Given the description of an element on the screen output the (x, y) to click on. 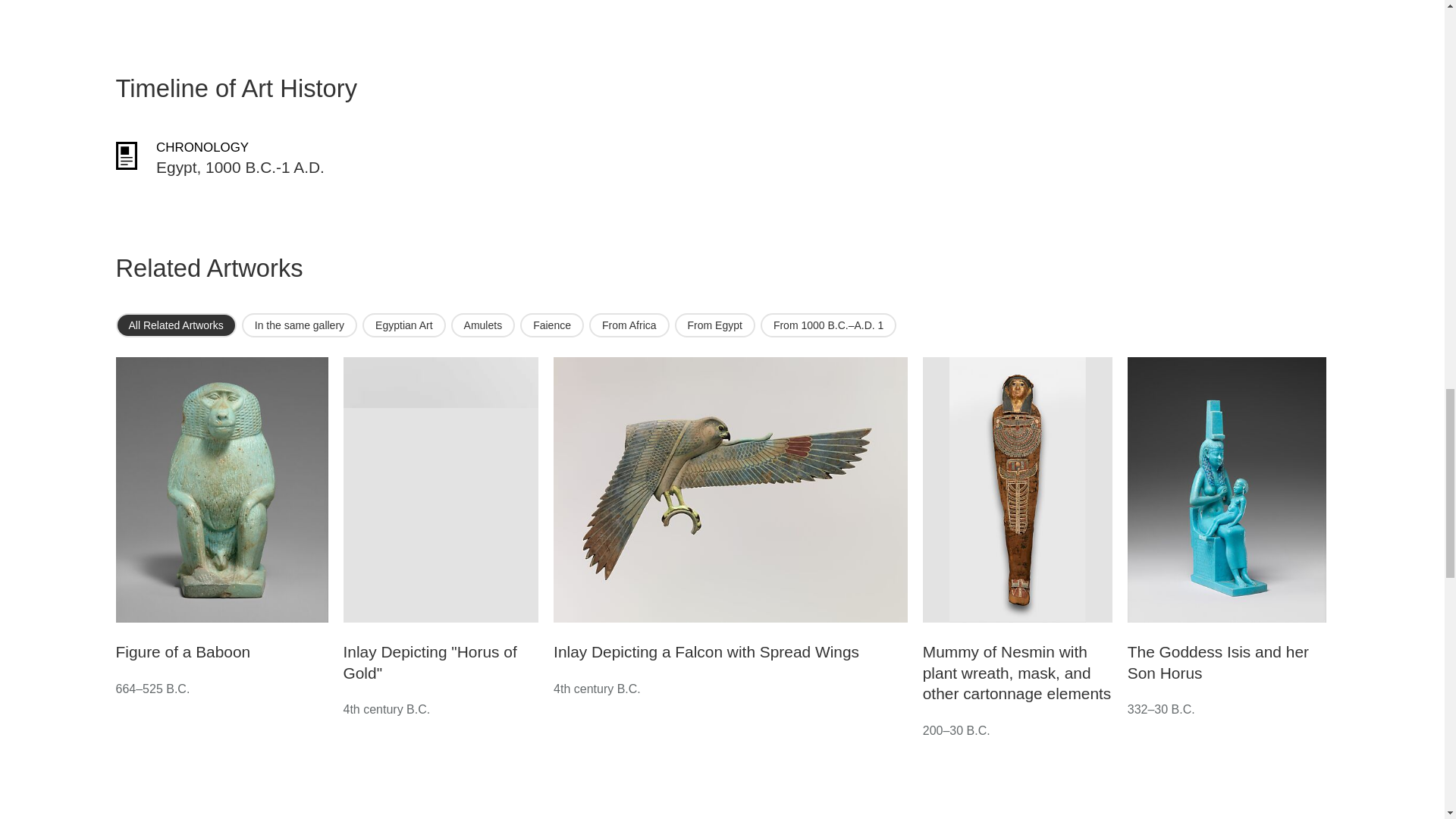
Egypt, 1000 B.C.-1 A.D. (239, 167)
